Given the description of an element on the screen output the (x, y) to click on. 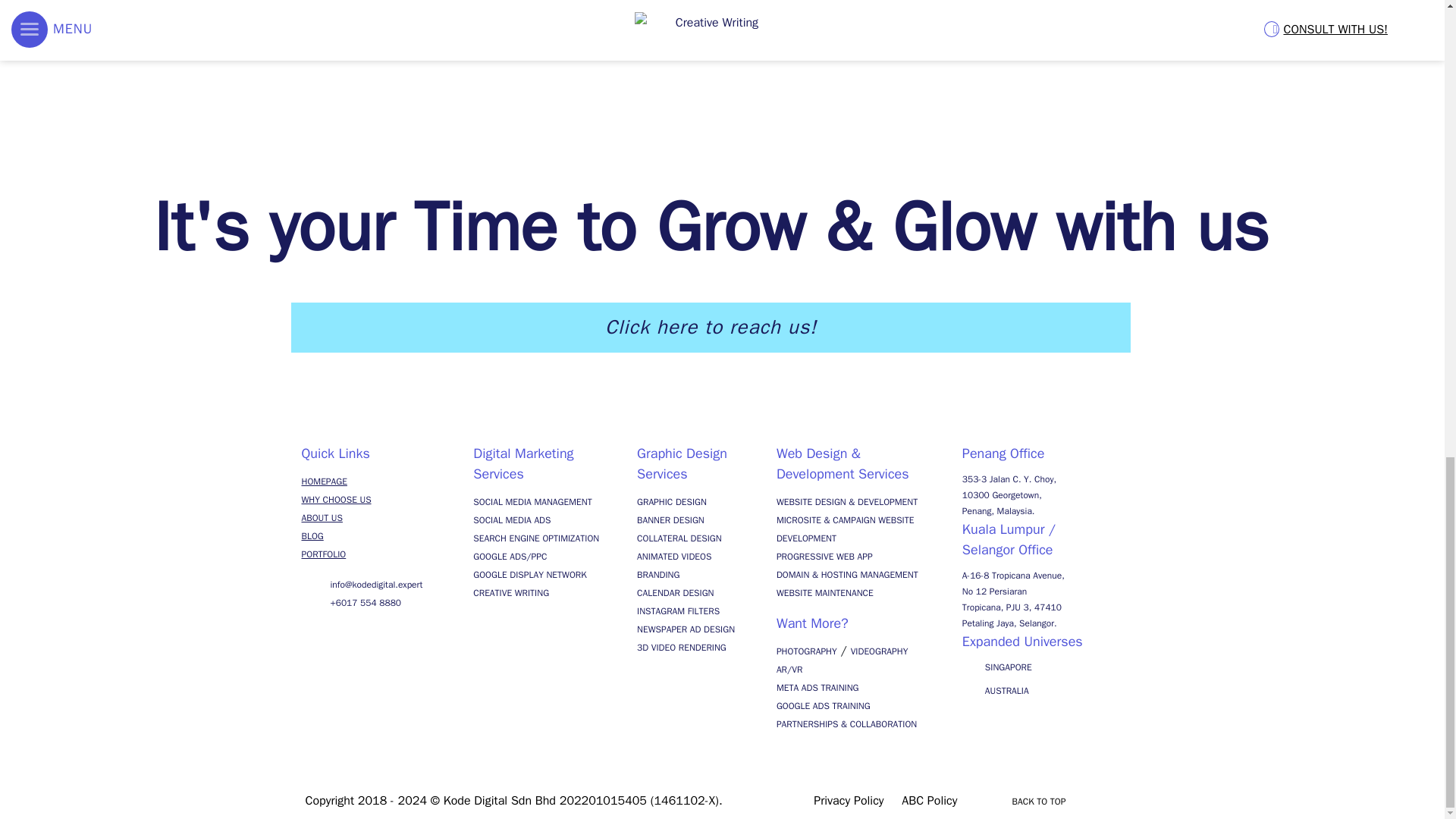
HOMEPAGE (324, 481)
Click here to reach us! (711, 327)
COLLATERAL DESIGN (679, 538)
SOCIAL MEDIA ADS (511, 520)
ANIMATED VIDEOS (674, 556)
WHY CHOOSE US (336, 499)
CALENDAR DESIGN (675, 592)
BANNER DESIGN (670, 520)
PORTFOLIO (323, 553)
CREATIVE WRITING (510, 592)
SEARCH ENGINE OPTIMIZATION (535, 538)
GRAPHIC DESIGN (671, 501)
Why This Matters (721, 15)
GOOGLE DISPLAY NETWORK (529, 574)
ABOUT US (321, 517)
